Given the description of an element on the screen output the (x, y) to click on. 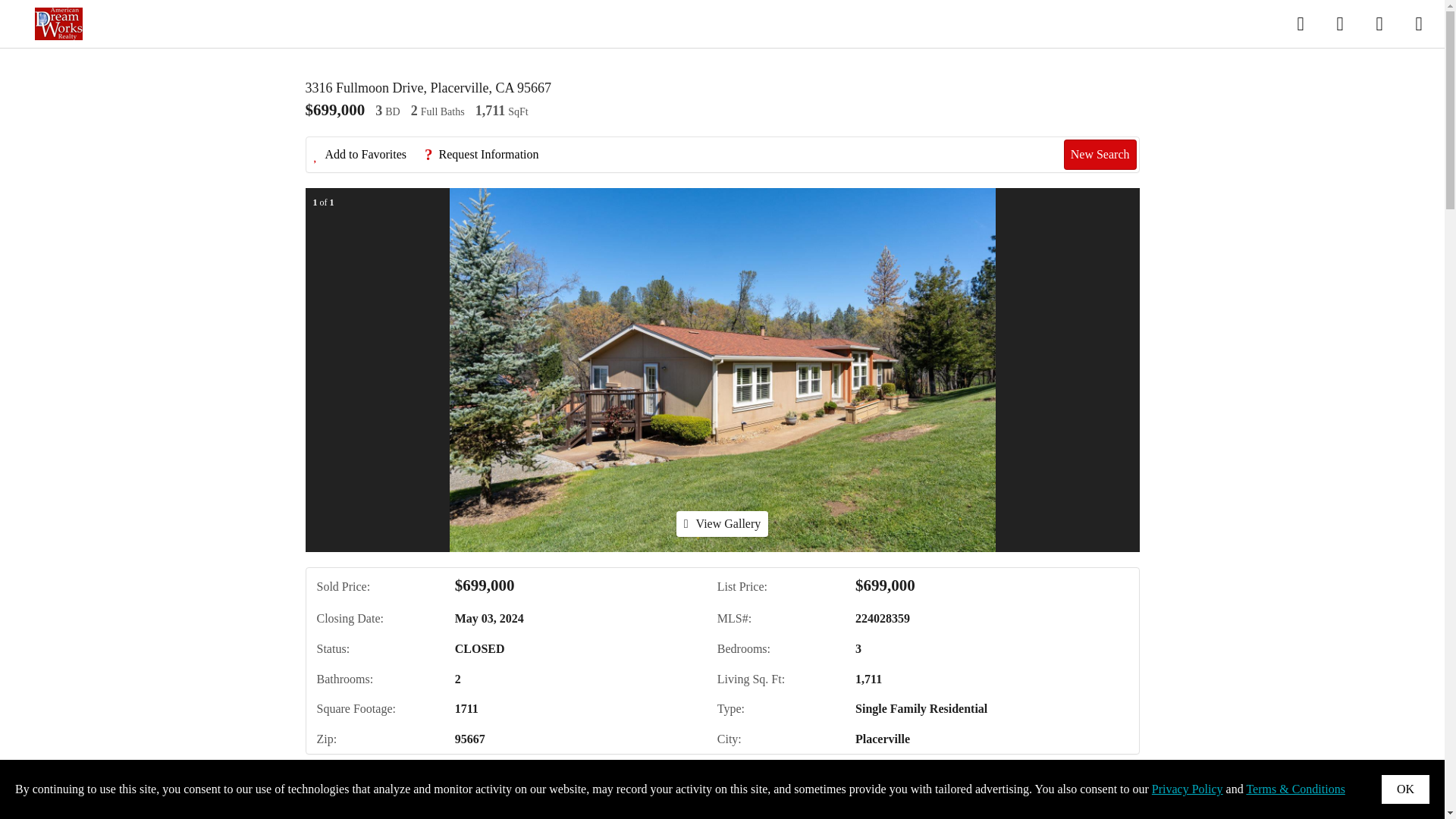
View Gallery (722, 522)
Contact Us (354, 787)
Call Us (429, 787)
New Search (1100, 154)
New Search (1094, 787)
Add to Favorites (368, 154)
Request Information (489, 154)
View Gallery (722, 524)
View on Map (510, 787)
Share (587, 787)
